Given the description of an element on the screen output the (x, y) to click on. 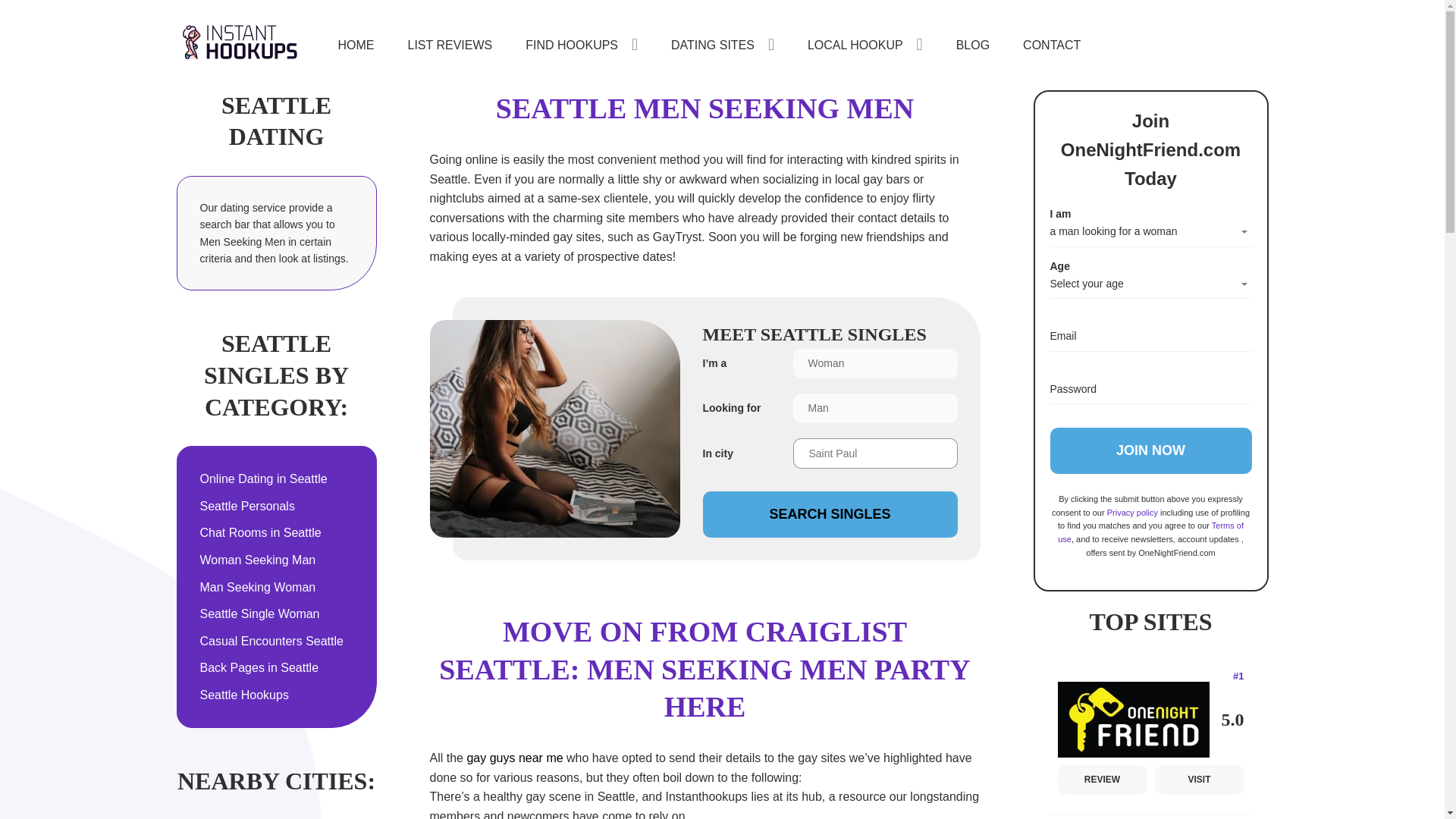
FIND HOOKUPS (581, 43)
LIST REVIEWS (450, 44)
HOME (355, 44)
